Given the description of an element on the screen output the (x, y) to click on. 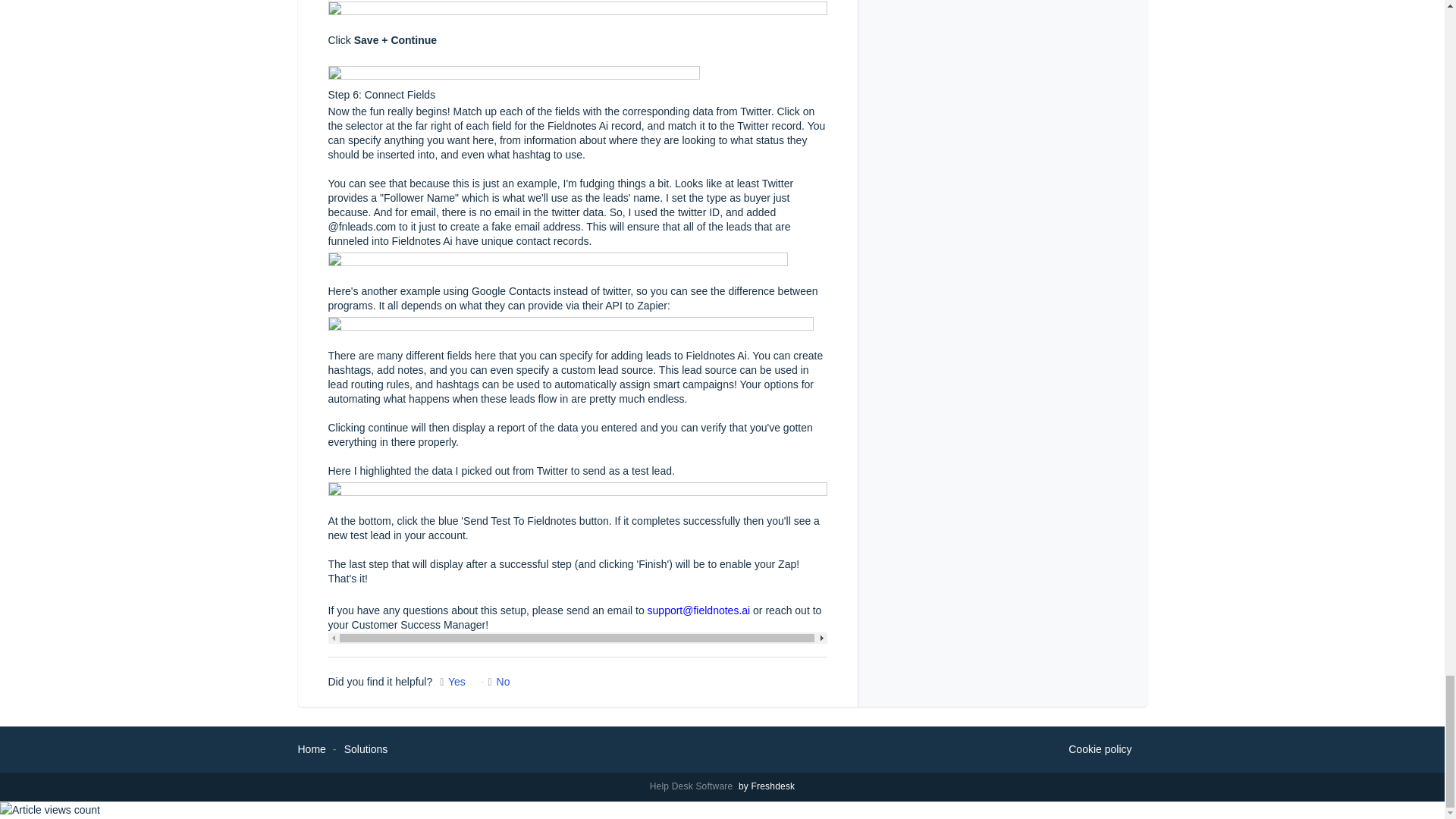
Solutions (365, 748)
Home (310, 748)
Cookie policy (1099, 750)
Why we love Cookies (1099, 750)
